Given the description of an element on the screen output the (x, y) to click on. 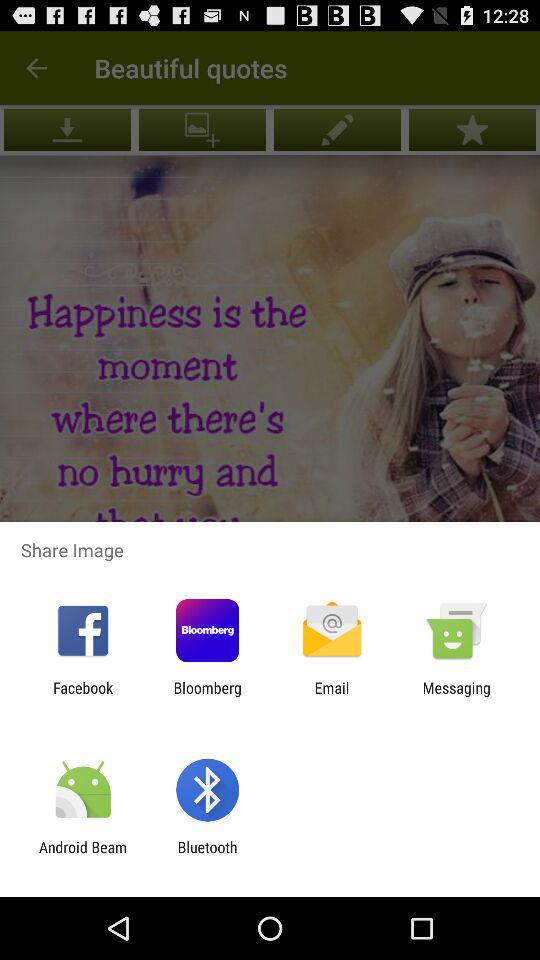
tap bloomberg icon (207, 696)
